Given the description of an element on the screen output the (x, y) to click on. 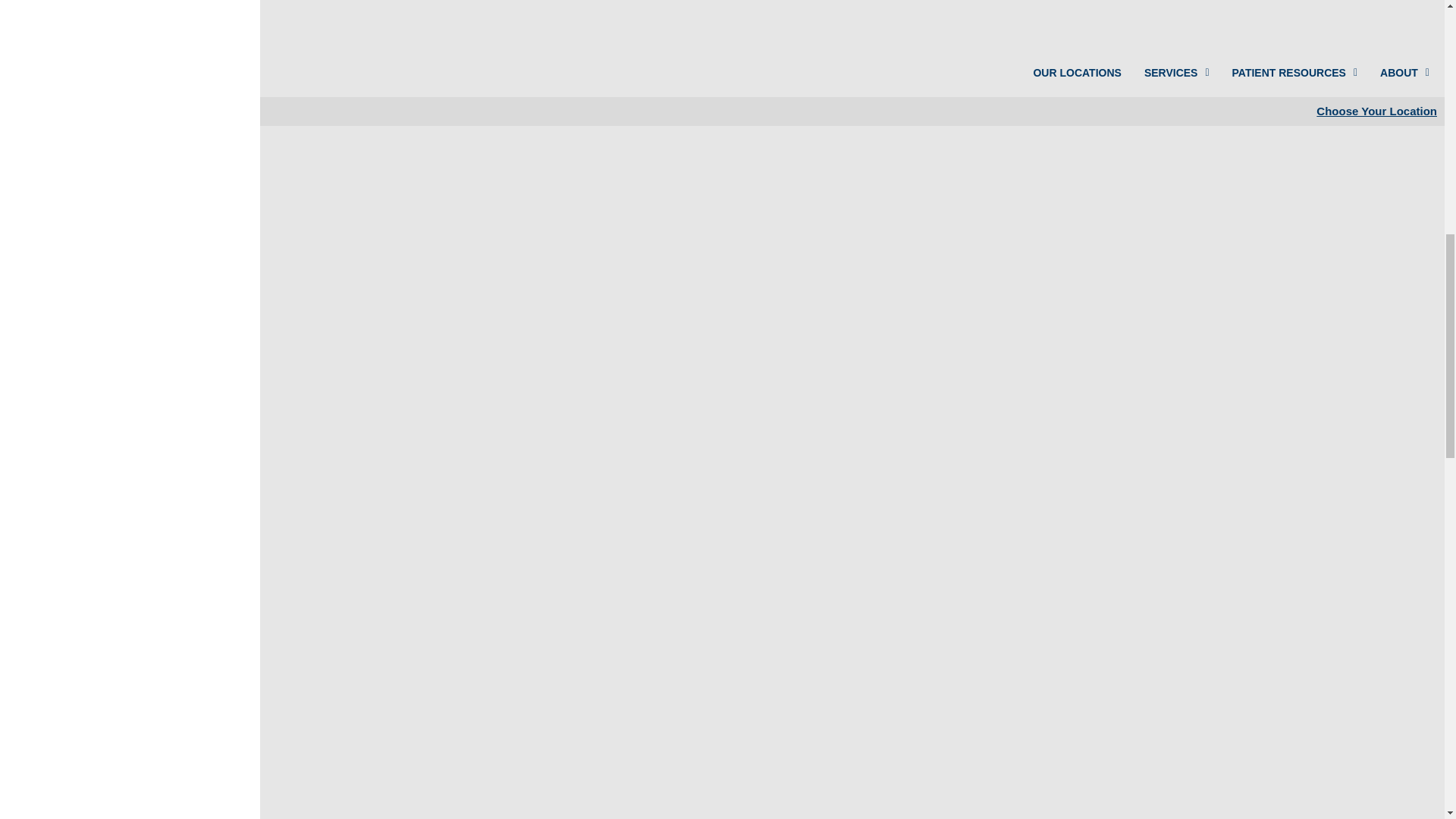
SERVICES (1165, 72)
OUR LOCATIONS (1065, 72)
